Given the description of an element on the screen output the (x, y) to click on. 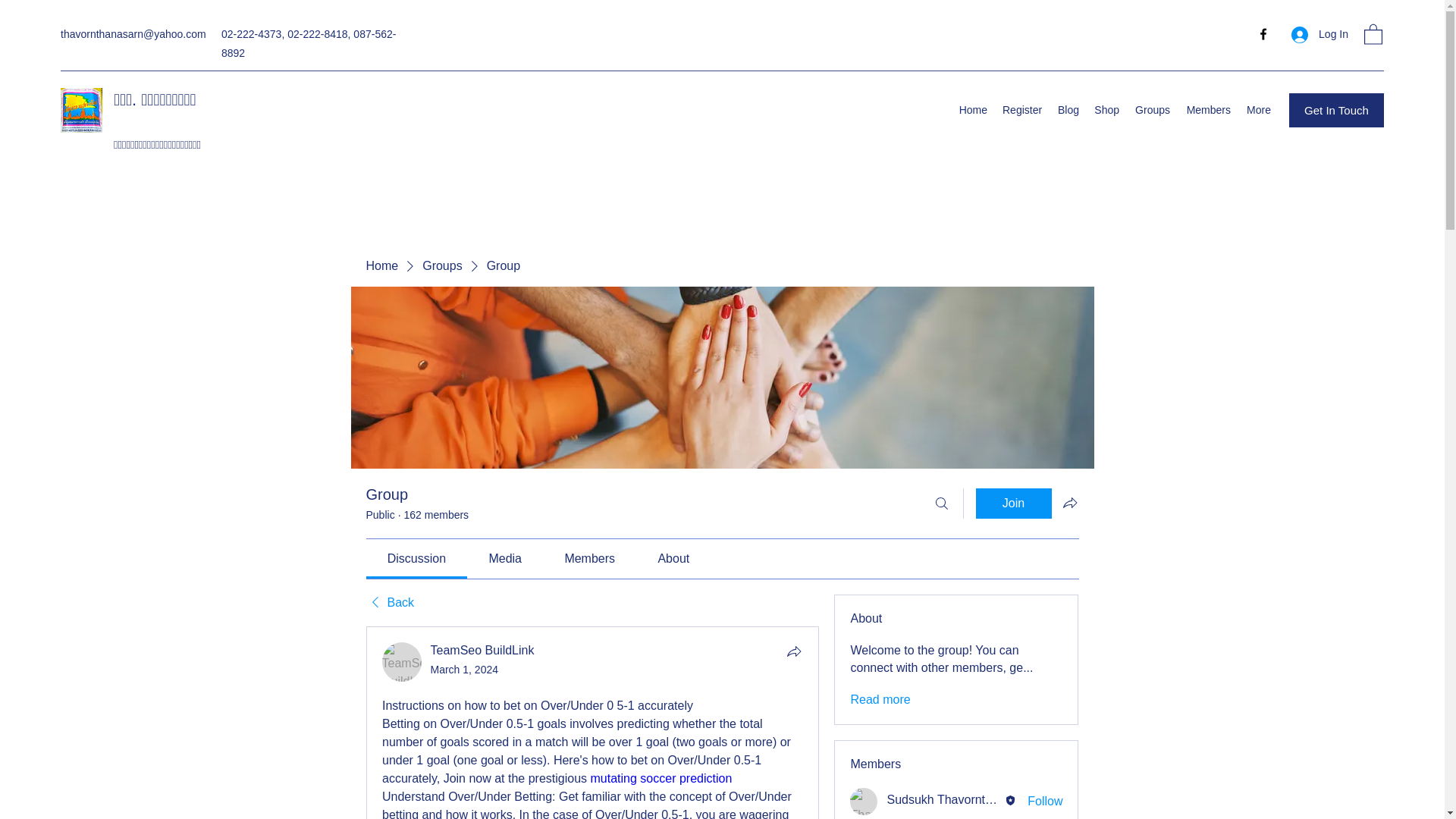
Groups (1151, 109)
Groups (441, 265)
Shop (1106, 109)
Join (1013, 503)
Home (381, 265)
Log In (1319, 34)
March 1, 2024 (464, 669)
Blog (1067, 109)
Sudsukh Thavornthanasarn (863, 800)
Members (1208, 109)
Home (972, 109)
Back (389, 602)
Register (1021, 109)
mutating soccer prediction (660, 778)
TeamSeo BuildLink (482, 649)
